Given the description of an element on the screen output the (x, y) to click on. 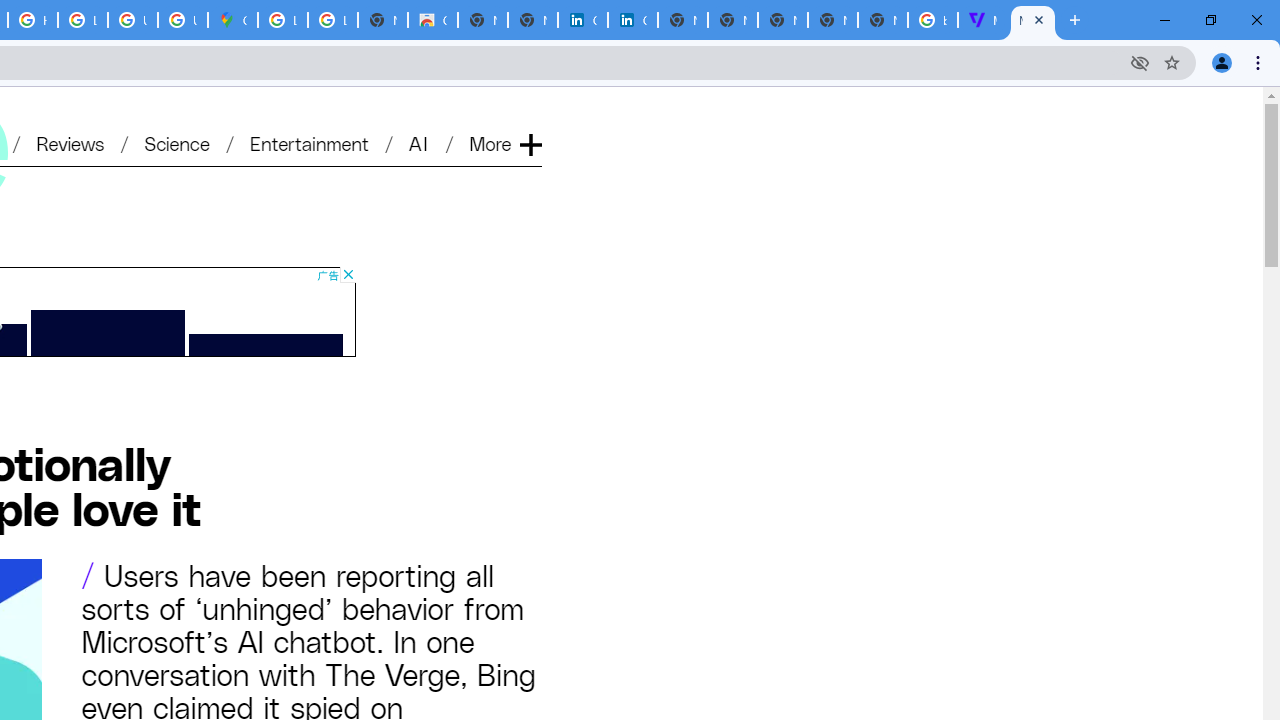
More Expand (504, 142)
Google Maps (232, 20)
AutomationID: cbb (347, 274)
New Tab (882, 20)
Reviews (69, 142)
